Given the description of an element on the screen output the (x, y) to click on. 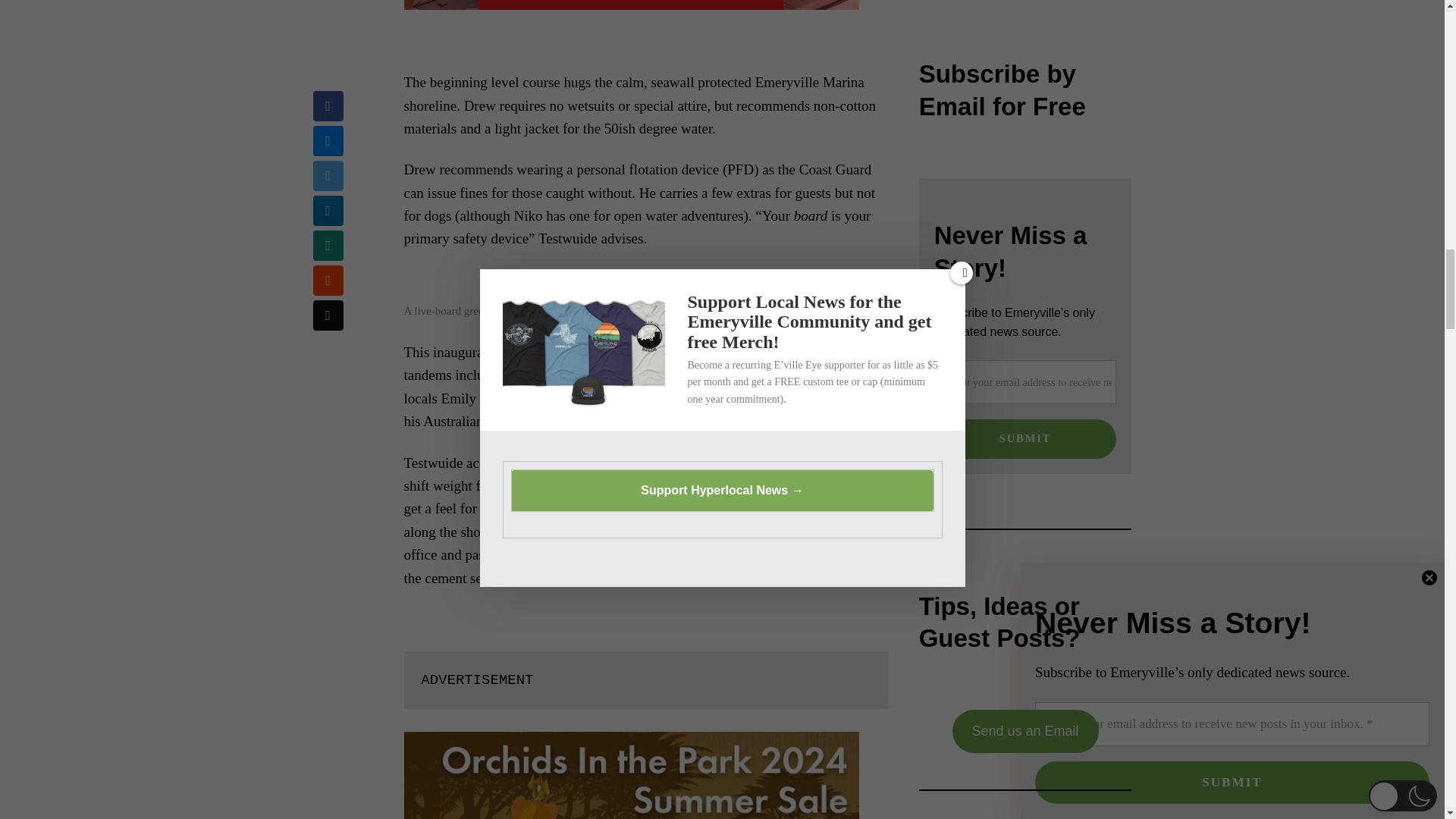
Submit (1025, 438)
SFOS - Summer Sale 2024 - In-Story (631, 775)
Townhouse Emeryville In-story (631, 4)
